Given the description of an element on the screen output the (x, y) to click on. 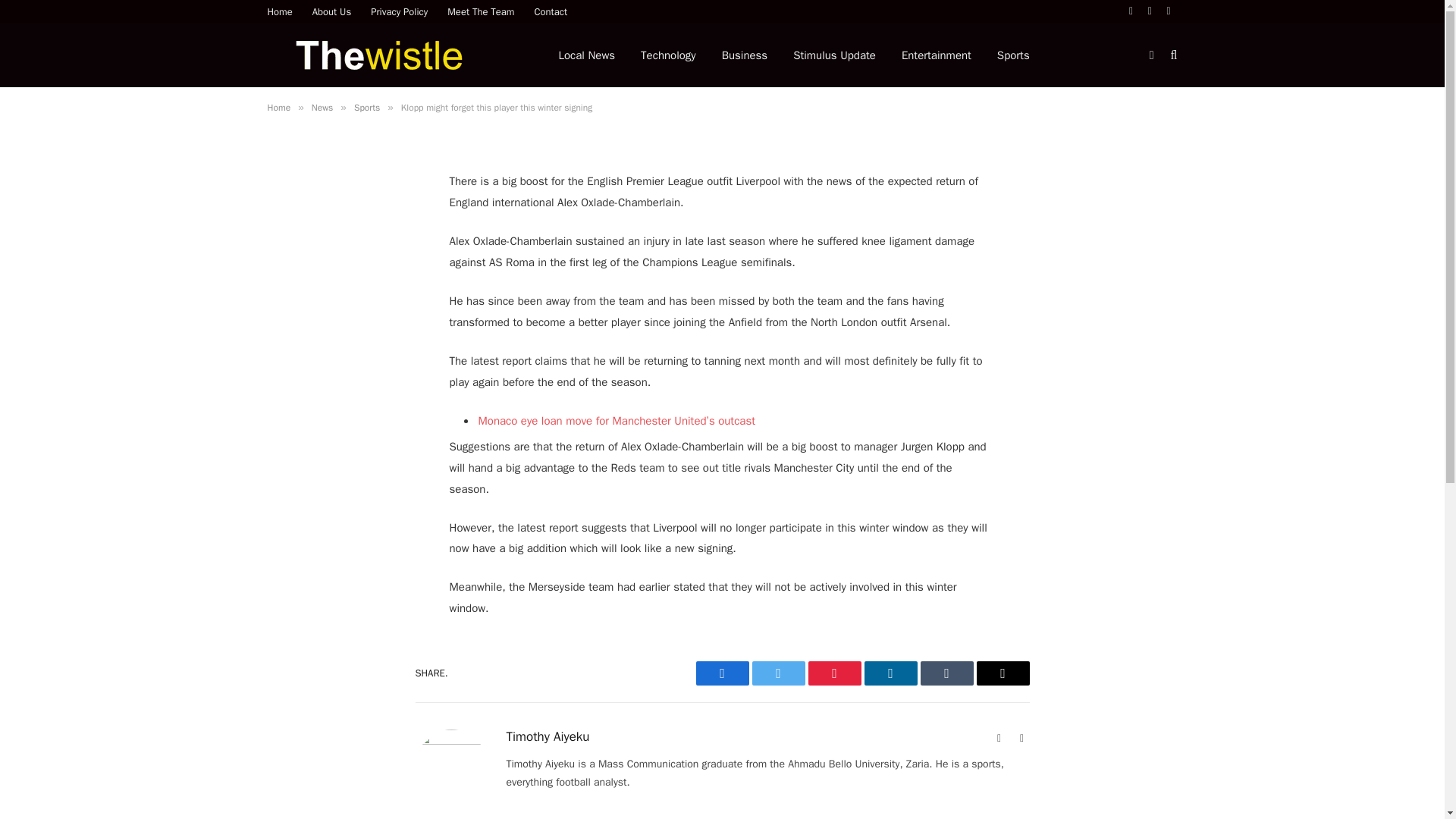
Switch to Dark Design - easier on eyes. (1151, 54)
Stimulus Update (834, 54)
Sports (1013, 54)
About Us (331, 11)
Pinterest (834, 672)
Share on Facebook (722, 672)
Technology (668, 54)
Facebook (722, 672)
Privacy Policy (399, 11)
News (322, 107)
Local News (587, 54)
Share on Pinterest (834, 672)
Home (277, 107)
Share on LinkedIn (890, 672)
Contact (551, 11)
